Given the description of an element on the screen output the (x, y) to click on. 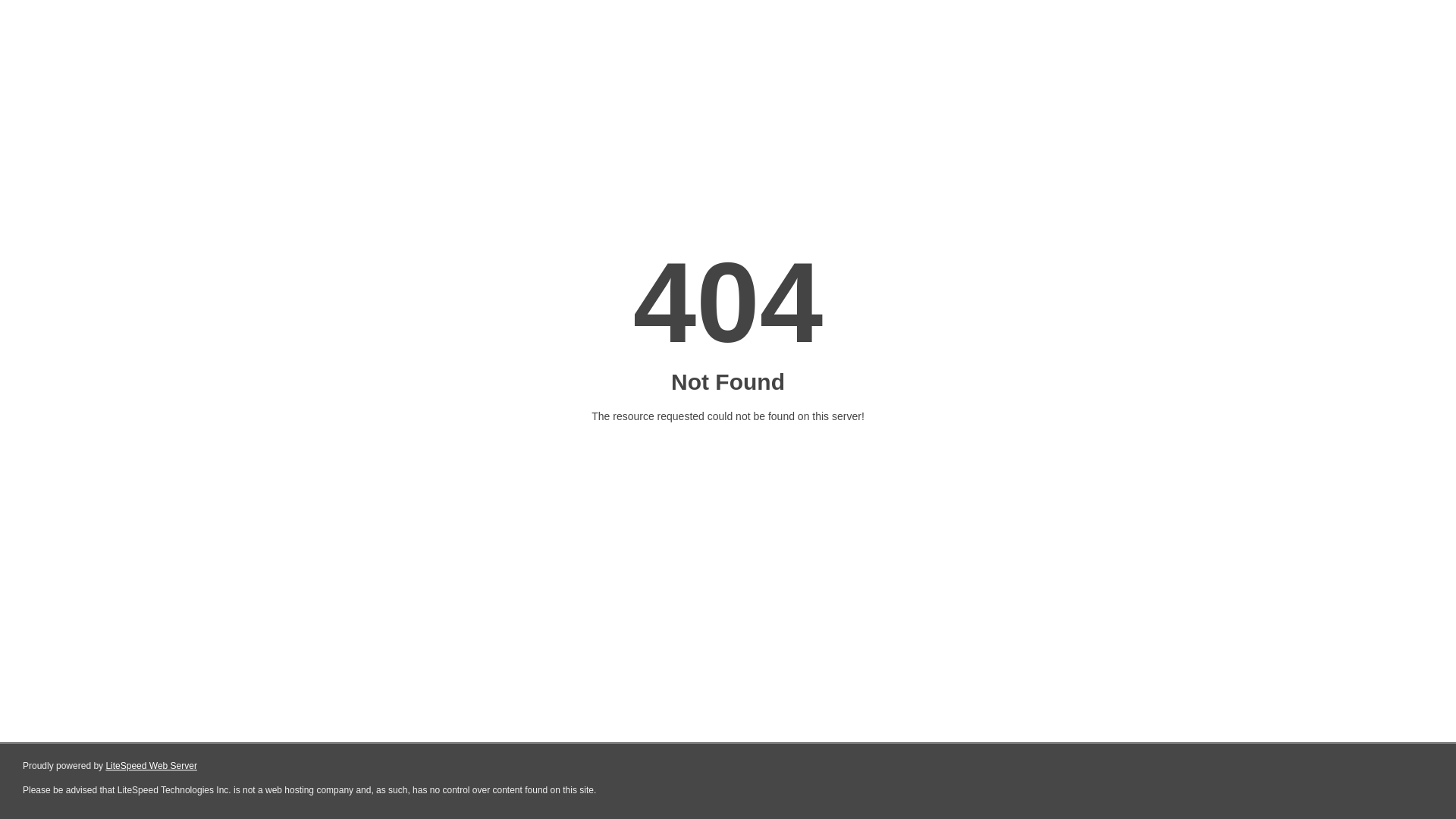
LiteSpeed Web Server Element type: text (151, 765)
